Given the description of an element on the screen output the (x, y) to click on. 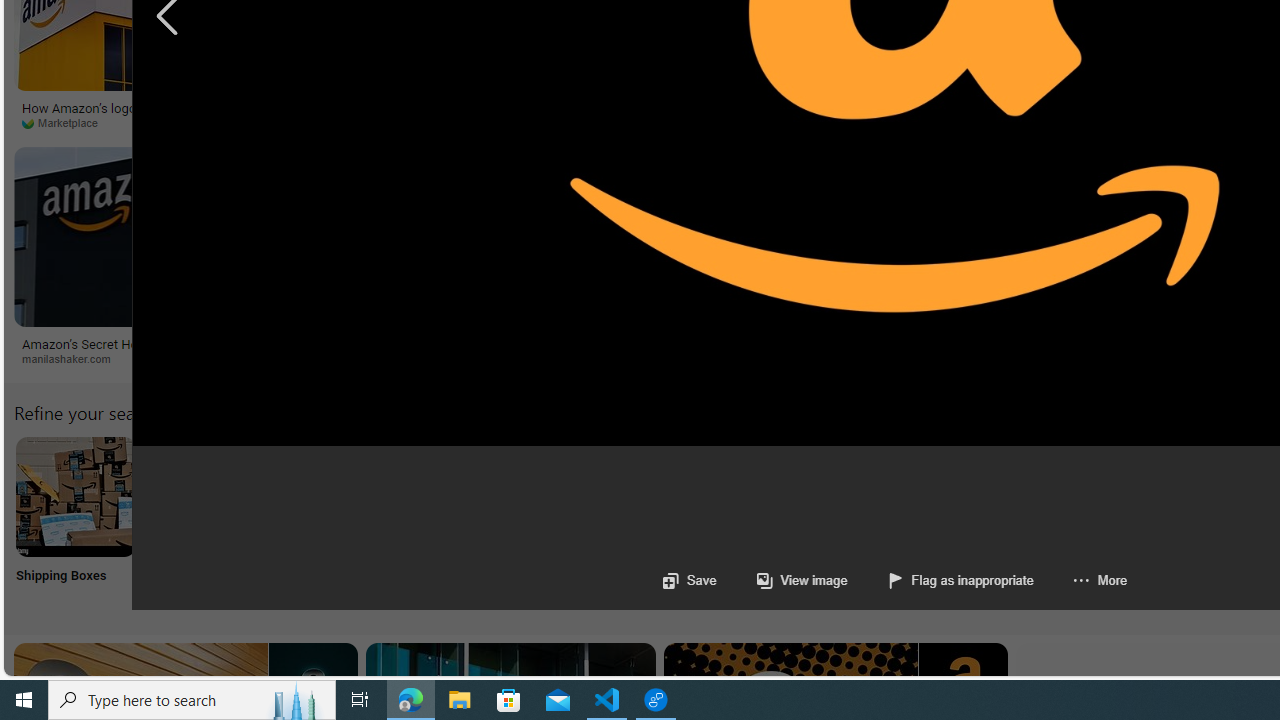
Amazon (821, 343)
Amazon Clip Art (339, 496)
manilashaker.com (174, 359)
Image result for amazon (820, 236)
Marketplace (173, 123)
Clip Art (339, 521)
Online Shopping Search (207, 521)
Dallas Morning News (683, 121)
Flag as inappropriate (940, 580)
Amazon Jobs Near Me Jobs Near Me (604, 521)
